Given the description of an element on the screen output the (x, y) to click on. 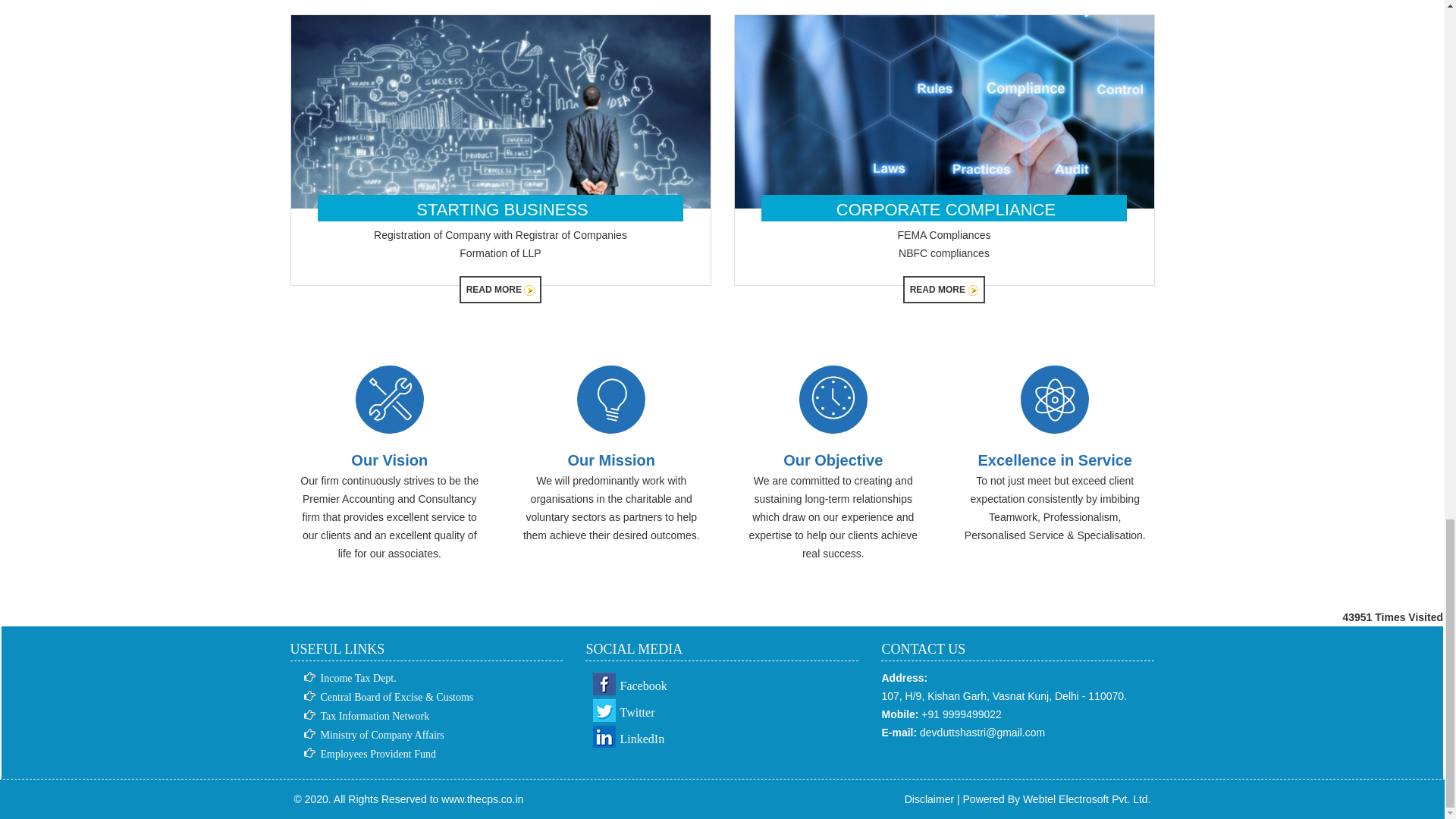
READ MORE (943, 289)
READ MORE (500, 289)
